Given the description of an element on the screen output the (x, y) to click on. 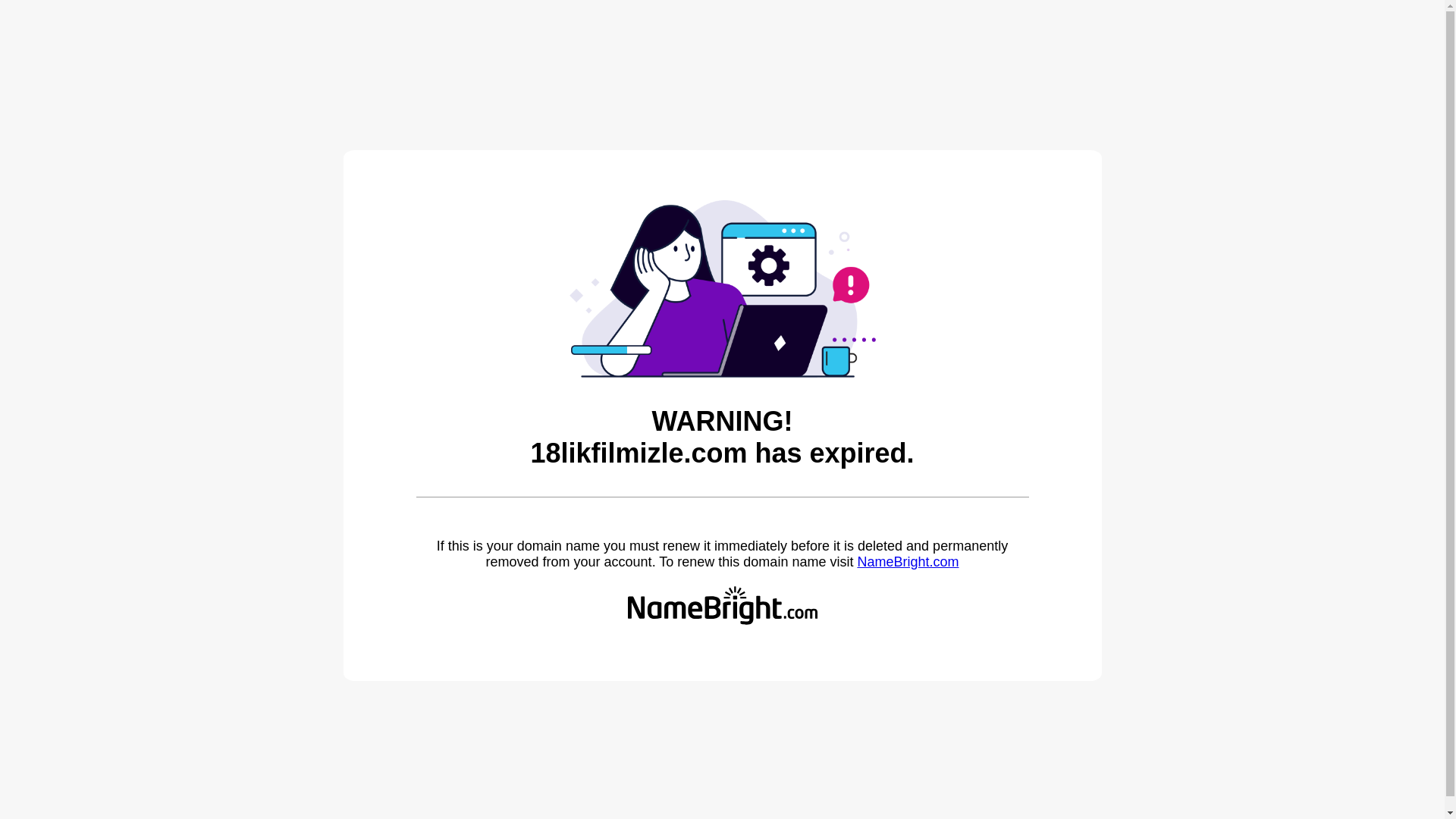
NameBright.com Element type: text (907, 561)
